Given the description of an element on the screen output the (x, y) to click on. 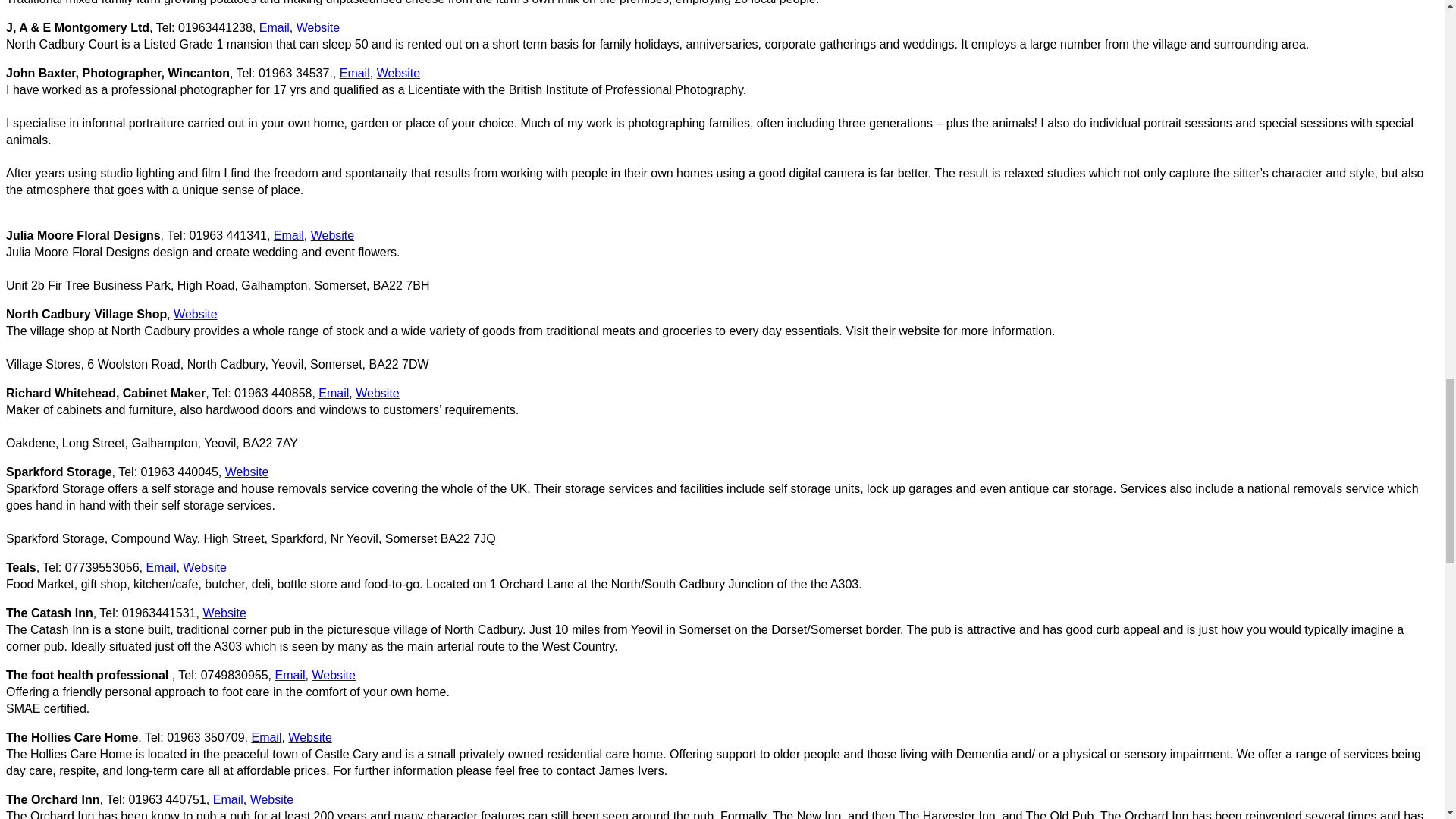
Website (398, 72)
Website (376, 392)
Email (274, 27)
Email (333, 392)
Email (354, 72)
Website (333, 235)
Website (194, 314)
Email (288, 235)
Website (318, 27)
